Given the description of an element on the screen output the (x, y) to click on. 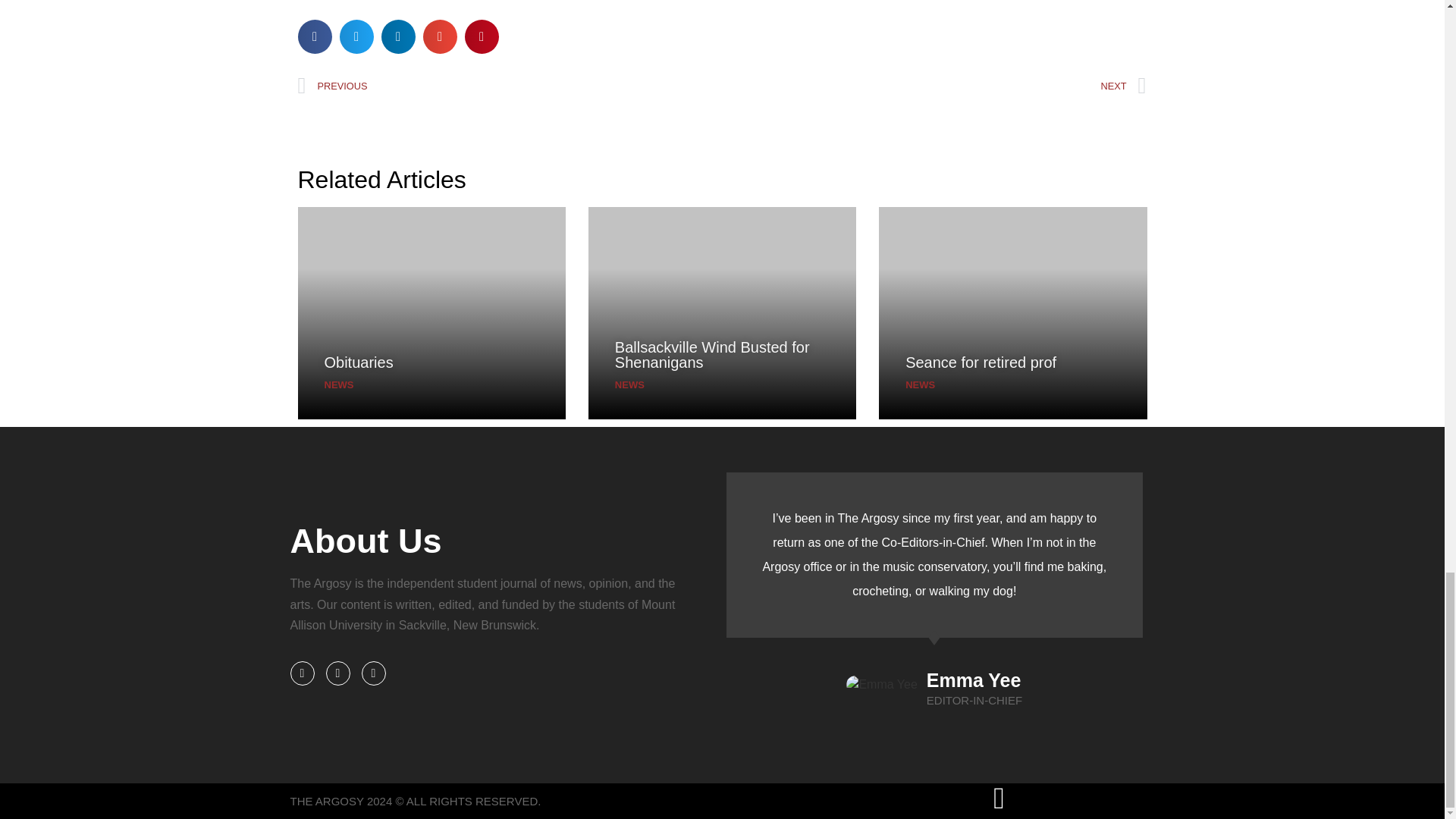
Obituaries (358, 362)
Ballsackville Wind Busted for Shenanigans (711, 355)
NEXT (934, 85)
PREVIOUS (509, 85)
Seance for retired prof (981, 362)
